Given the description of an element on the screen output the (x, y) to click on. 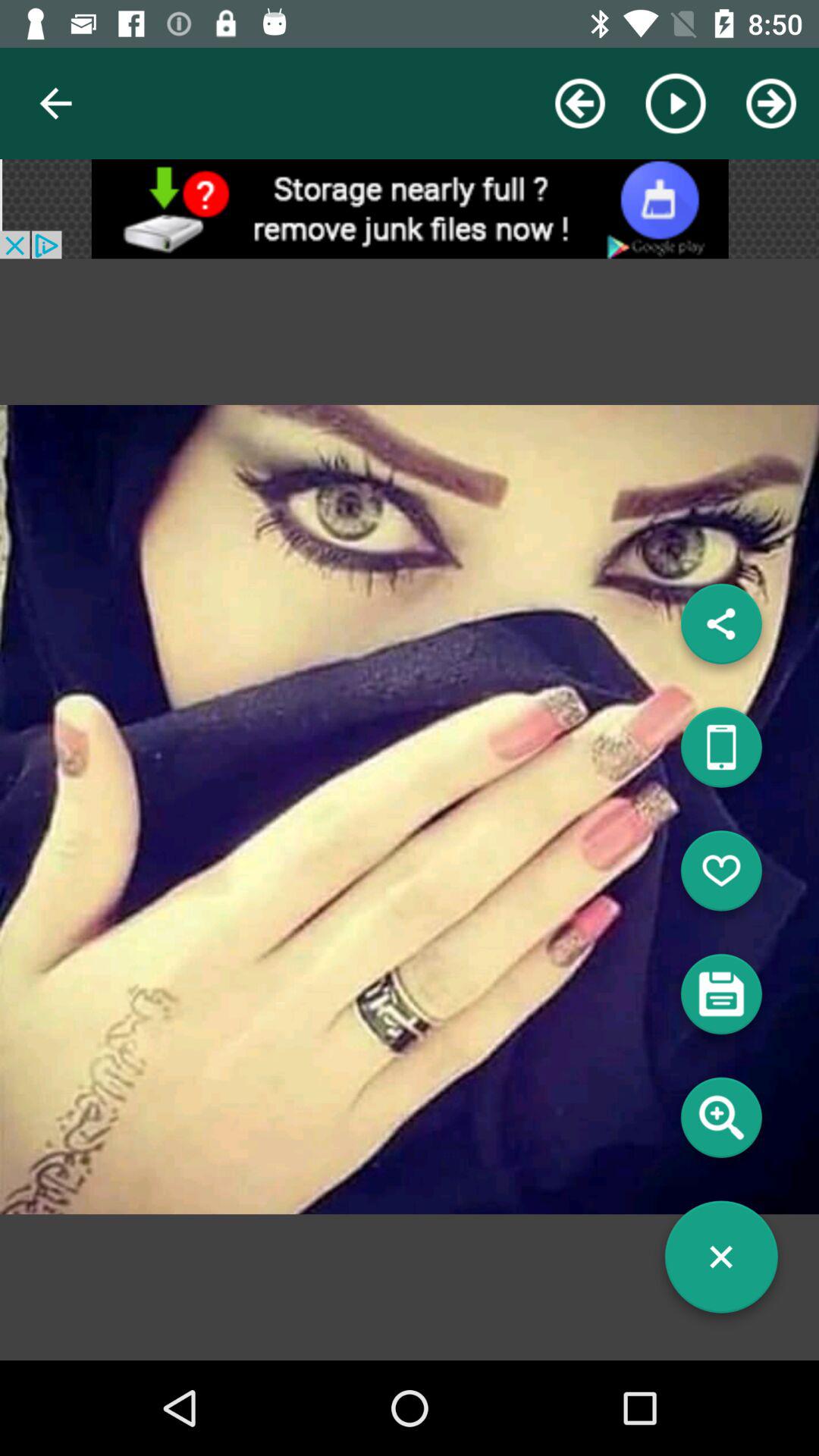
like photo (721, 876)
